Given the description of an element on the screen output the (x, y) to click on. 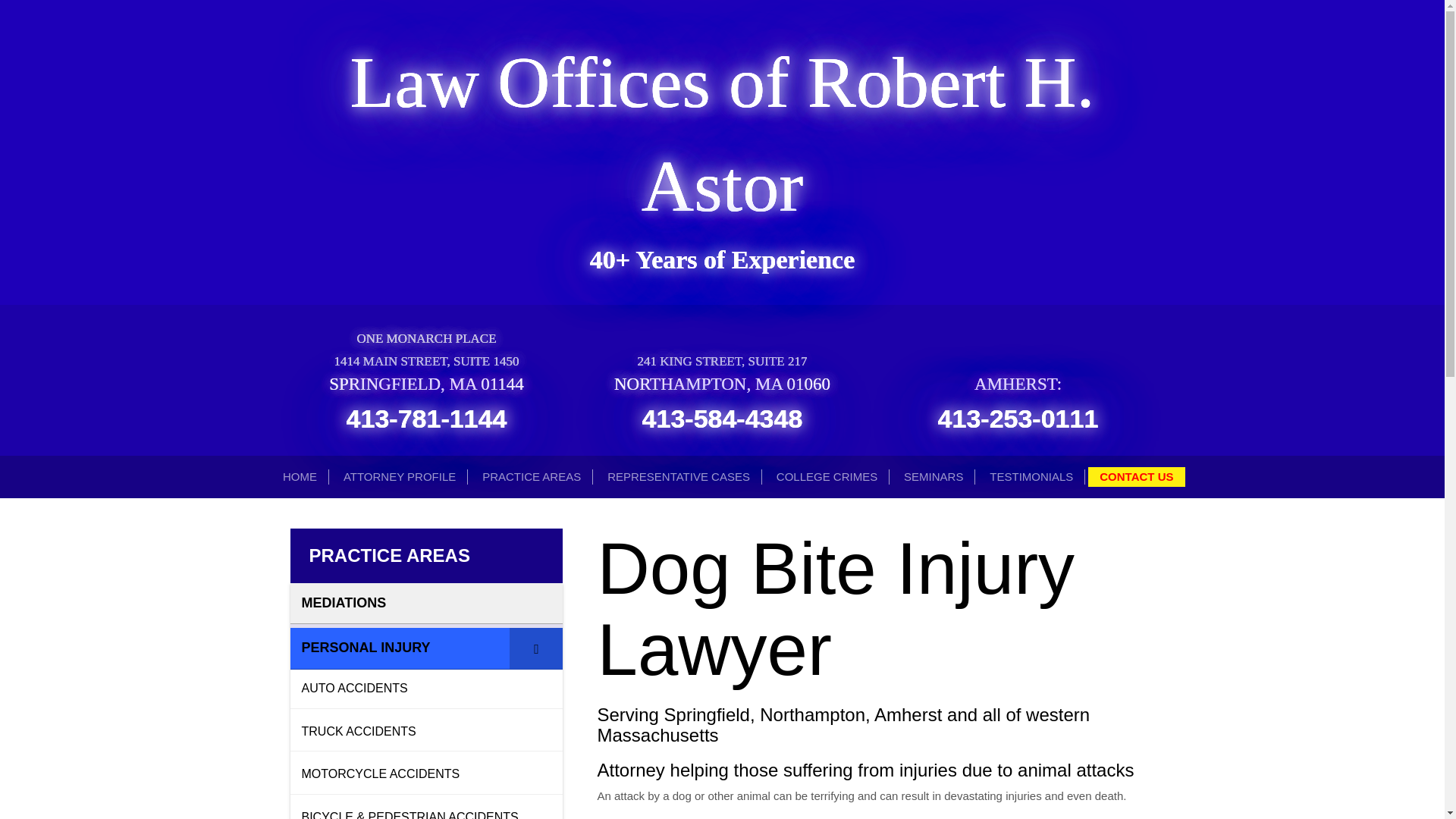
HOME (299, 476)
MEDIATIONS (425, 603)
413-253-0111 (1018, 418)
413-781-1144 (426, 418)
REPRESENTATIVE CASES (678, 476)
SEMINARS (933, 476)
ATTORNEY PROFILE (399, 476)
TESTIMONIALS (1031, 476)
AUTO ACCIDENTS (425, 689)
COLLEGE CRIMES (827, 476)
